Given the description of an element on the screen output the (x, y) to click on. 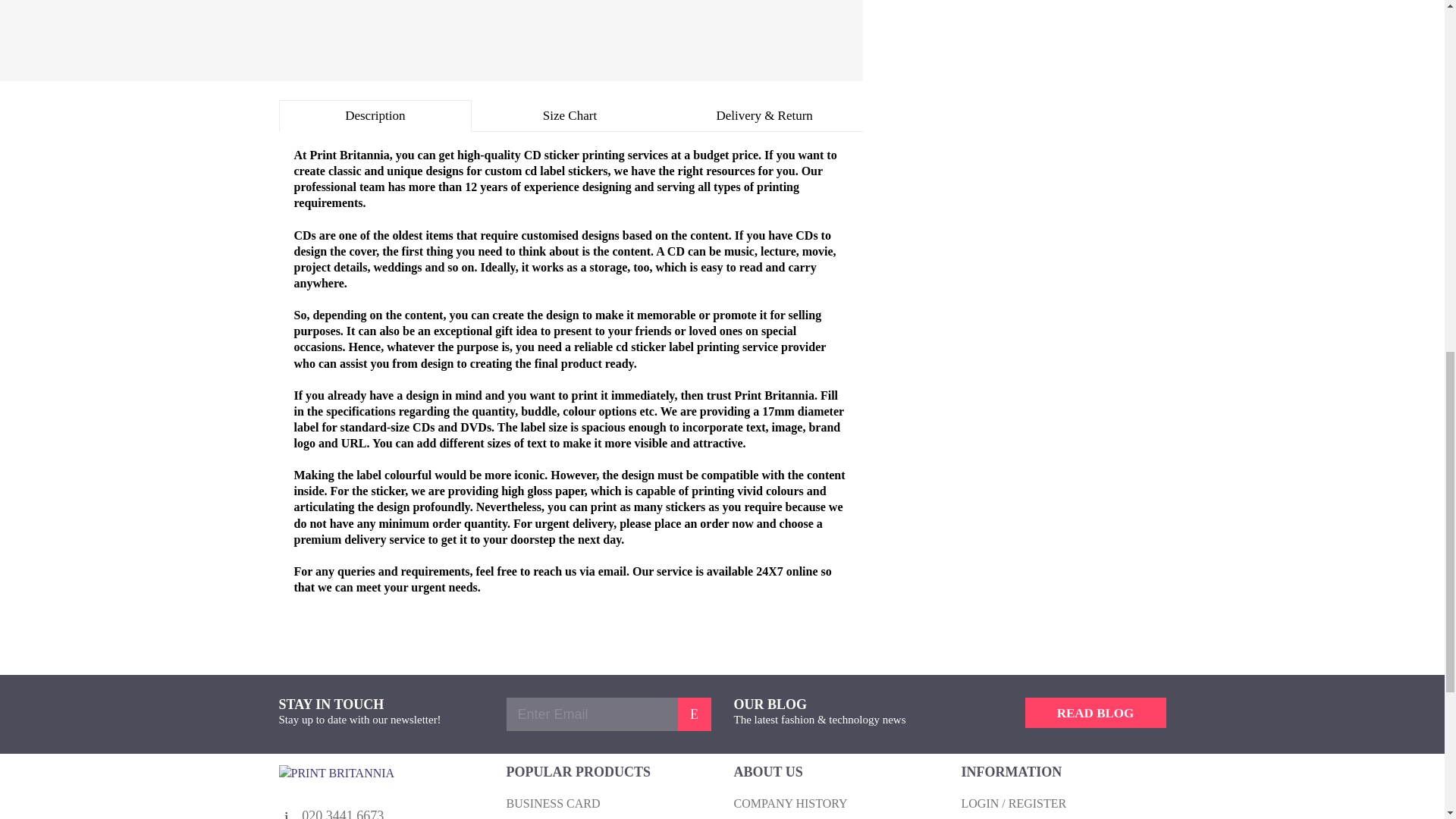
Phone (287, 813)
GO (1095, 712)
GO (694, 714)
